Given the description of an element on the screen output the (x, y) to click on. 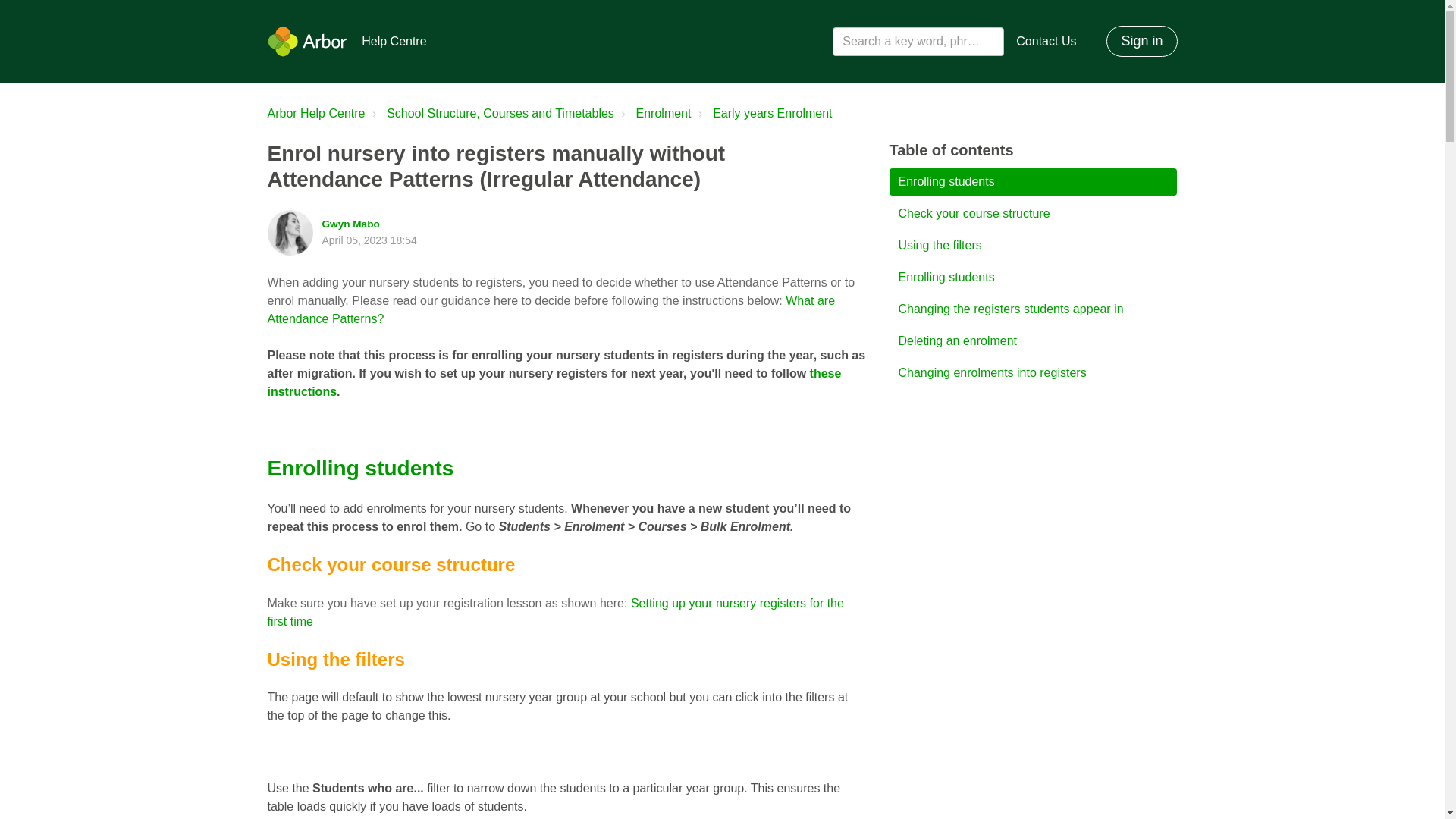
Arbor Help Centre (315, 113)
these instructions (553, 382)
Search (34, 14)
Arbor Help Centre (315, 113)
Enrolling students (1032, 277)
2023-04-05 18:54 (368, 240)
Changing the registers students appear in (1032, 308)
Sign in (1141, 40)
Enrolling students (1032, 181)
Opens a dialog (1141, 40)
School Structure, Courses and Timetables (491, 113)
What are Attendance Patterns? (550, 309)
Deleting an enrolment (1032, 340)
Enrolment (663, 113)
Check your course structure (1032, 213)
